Given the description of an element on the screen output the (x, y) to click on. 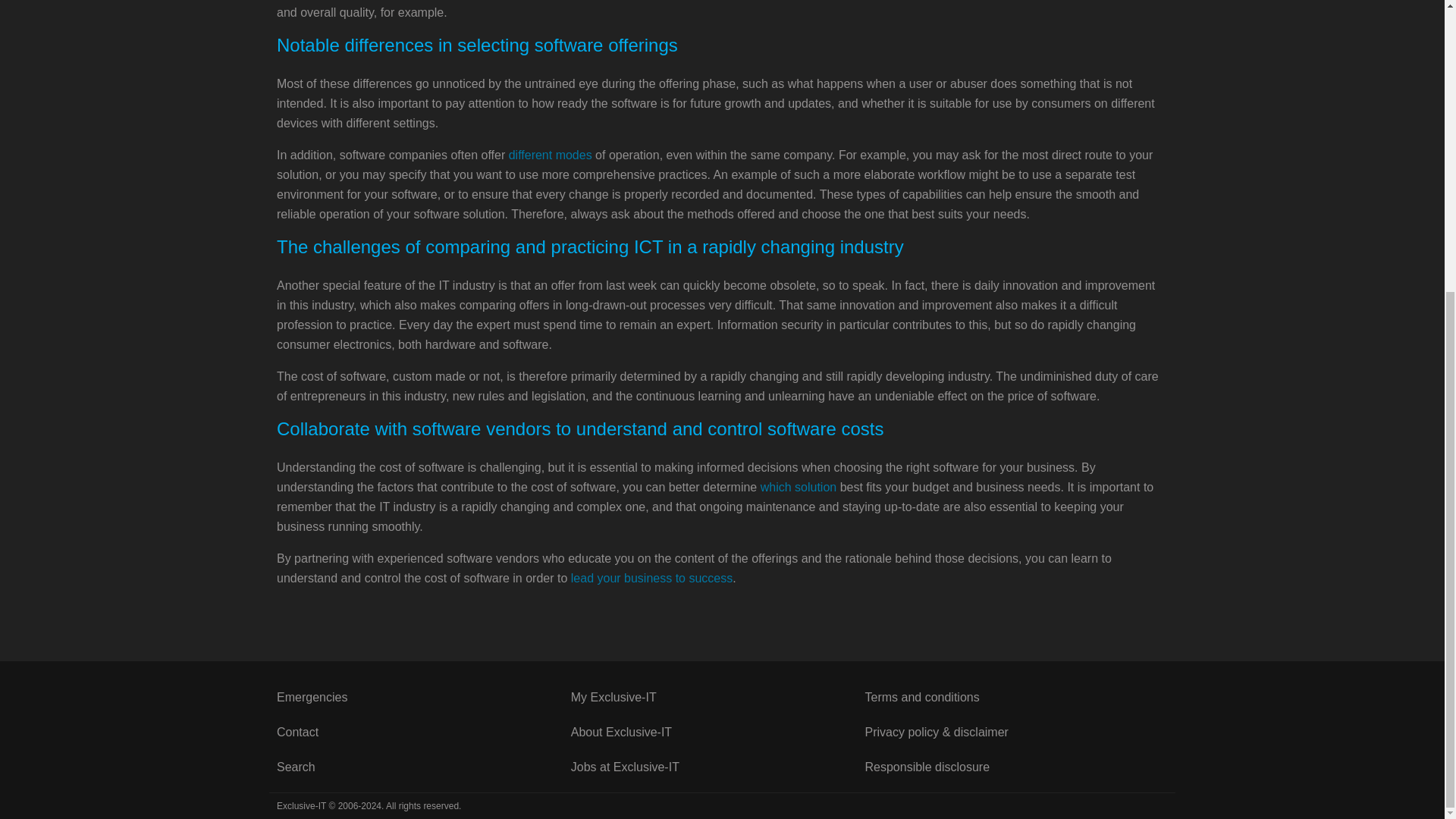
Emergencies (423, 697)
which solution (798, 486)
Contact (423, 732)
Jobs at Exclusive-IT (717, 767)
About Exclusive-IT (717, 732)
different modes (550, 154)
Responsible disclosure (1011, 767)
Search (423, 767)
lead your business to success (651, 577)
Terms and conditions (1011, 697)
My Exclusive-IT (717, 697)
